Given the description of an element on the screen output the (x, y) to click on. 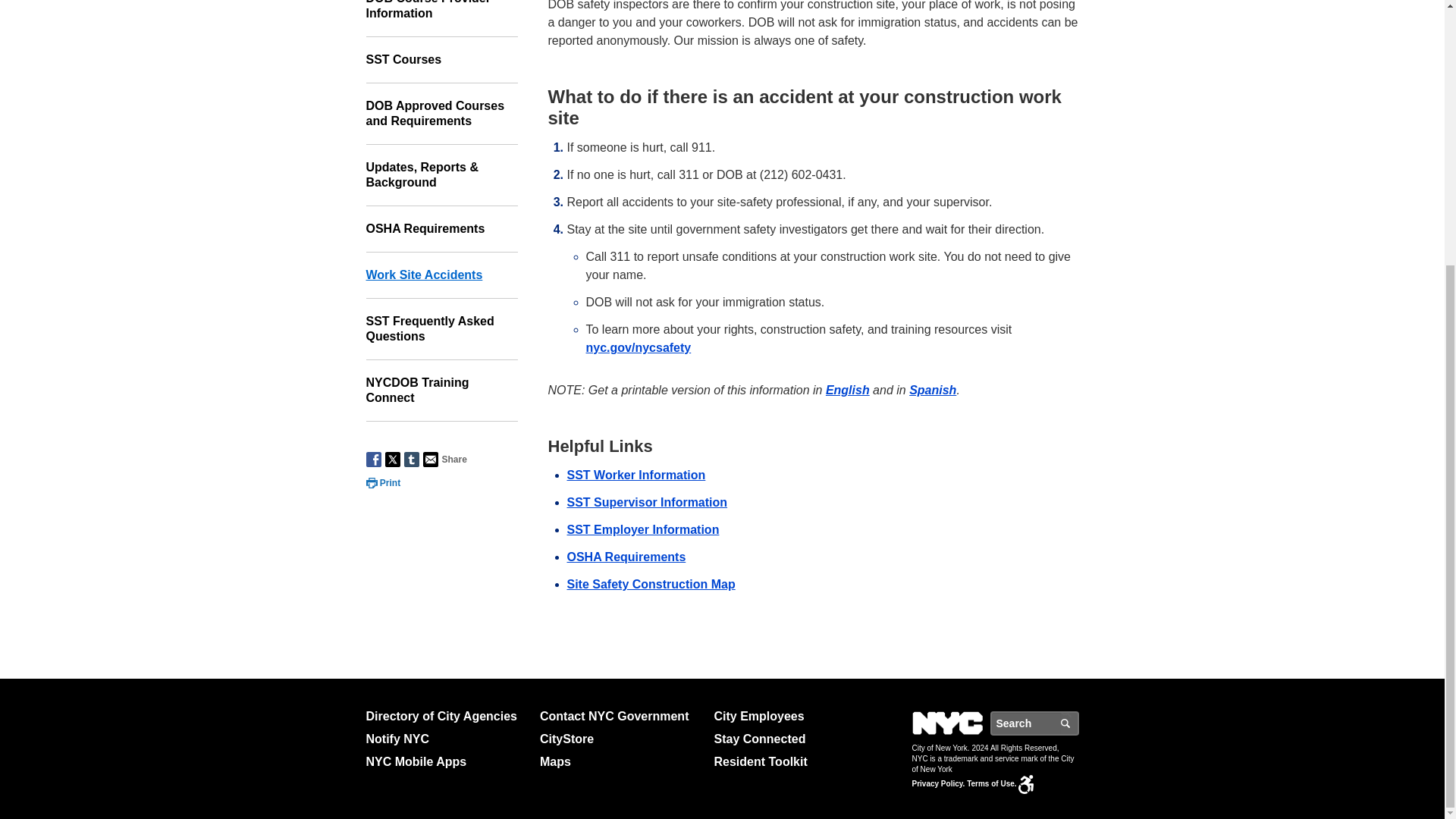
OSHA Requirements (440, 229)
Privacy Ploicy  (937, 783)
SST Courses (440, 59)
DOB Course Provider Information (440, 18)
NYCDOB Training Connect (440, 390)
SST Frequently Asked Questions (440, 329)
DOB Approved Courses and Requirements (440, 113)
Terms of Use (991, 783)
Work Site Accidents (440, 275)
